Given the description of an element on the screen output the (x, y) to click on. 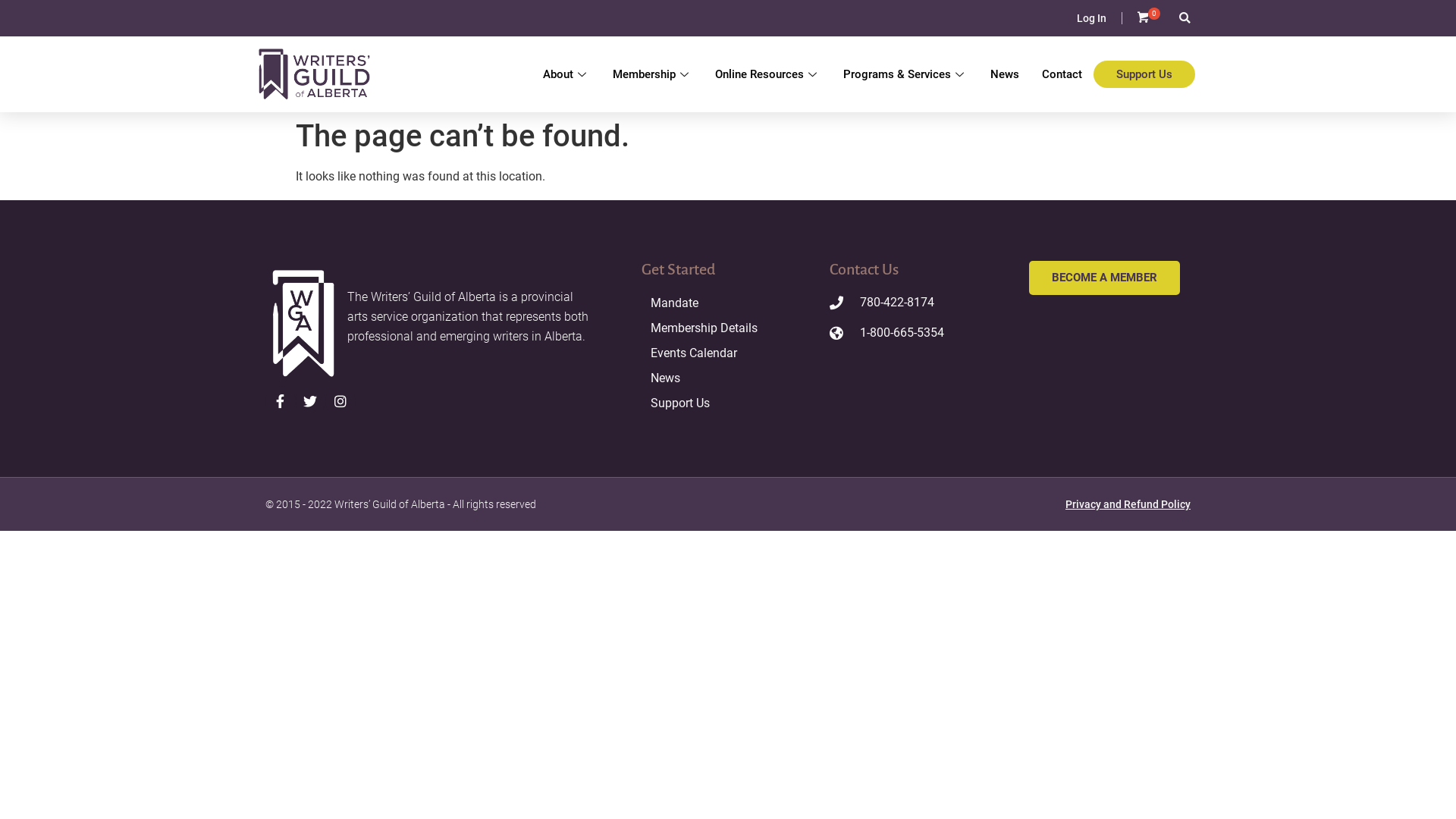
Membership Details Element type: text (727, 327)
Membership Element type: text (652, 73)
Mandate Element type: text (727, 302)
Contact Element type: text (1061, 73)
News Element type: text (727, 378)
Log In Element type: text (1091, 18)
Online Resources Element type: text (767, 73)
Support Us Element type: text (727, 403)
BECOME A MEMBER Element type: text (1103, 277)
Privacy and Refund Policy Element type: text (1127, 504)
Programs & Services Element type: text (905, 73)
News Element type: text (1004, 73)
Support Us Element type: text (1144, 73)
Events Calendar Element type: text (727, 353)
About Element type: text (566, 73)
